Given the description of an element on the screen output the (x, y) to click on. 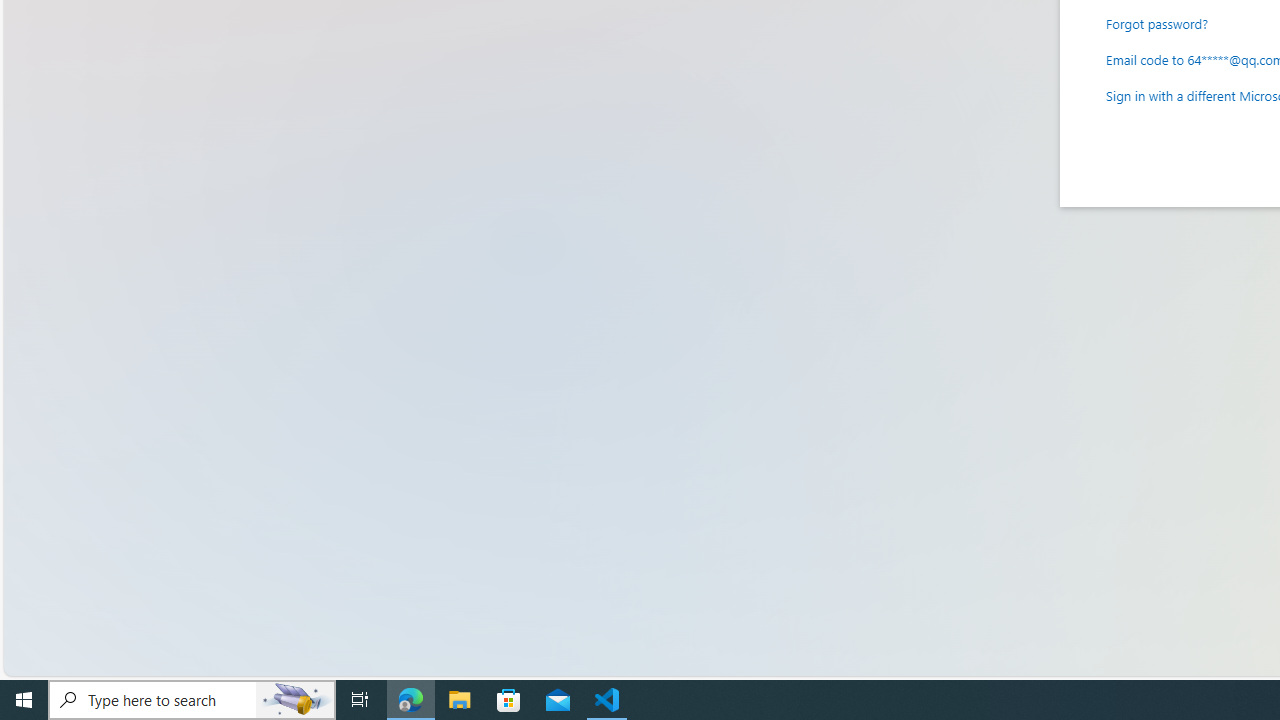
Forgot password? (1157, 22)
